Given the description of an element on the screen output the (x, y) to click on. 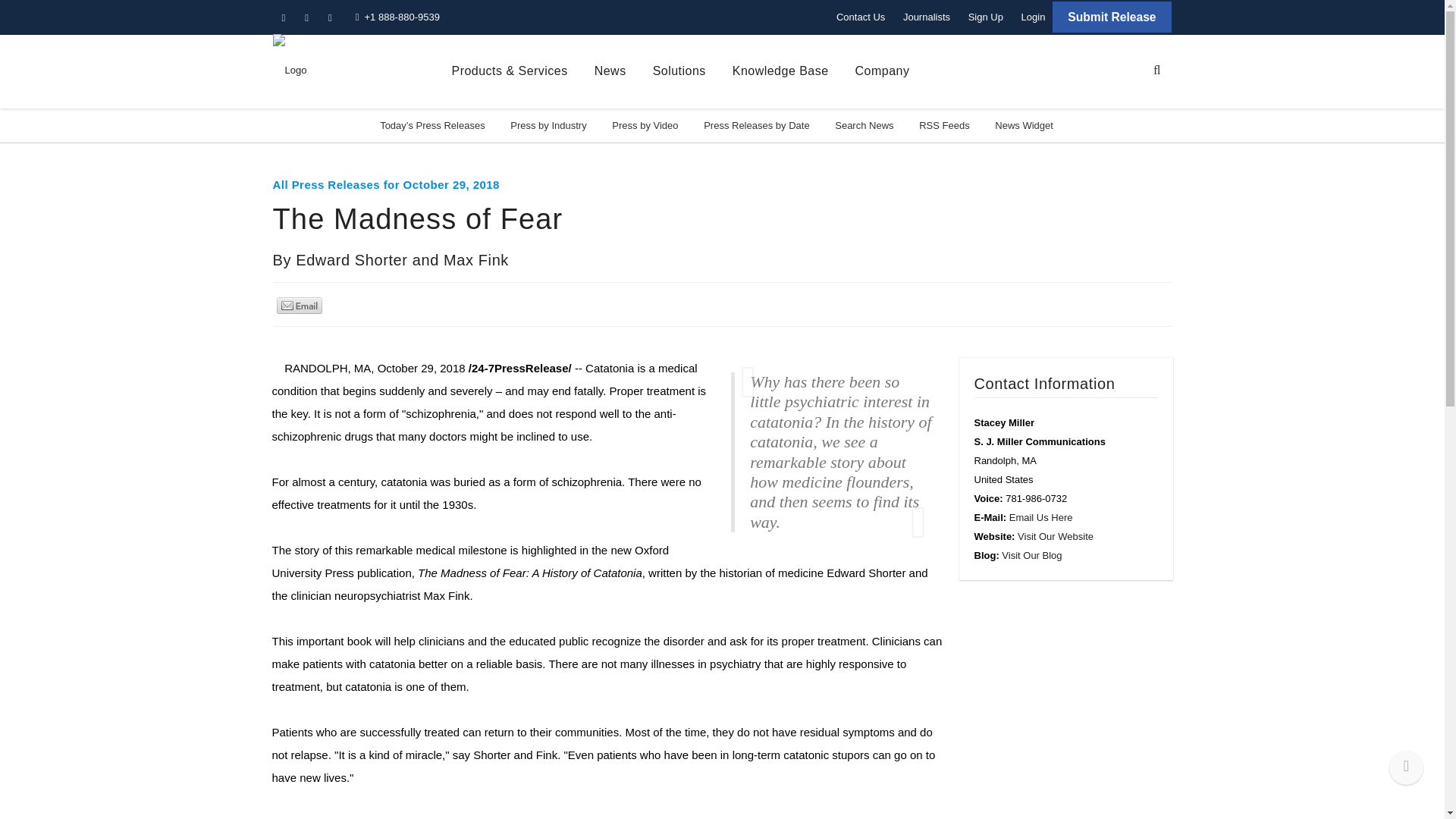
Solutions (679, 71)
Journalists (926, 16)
Sign Up (985, 16)
Company (882, 71)
Knowledge Base (780, 71)
Submit Release (1111, 16)
Contact Us (860, 16)
Login (1032, 16)
